Given the description of an element on the screen output the (x, y) to click on. 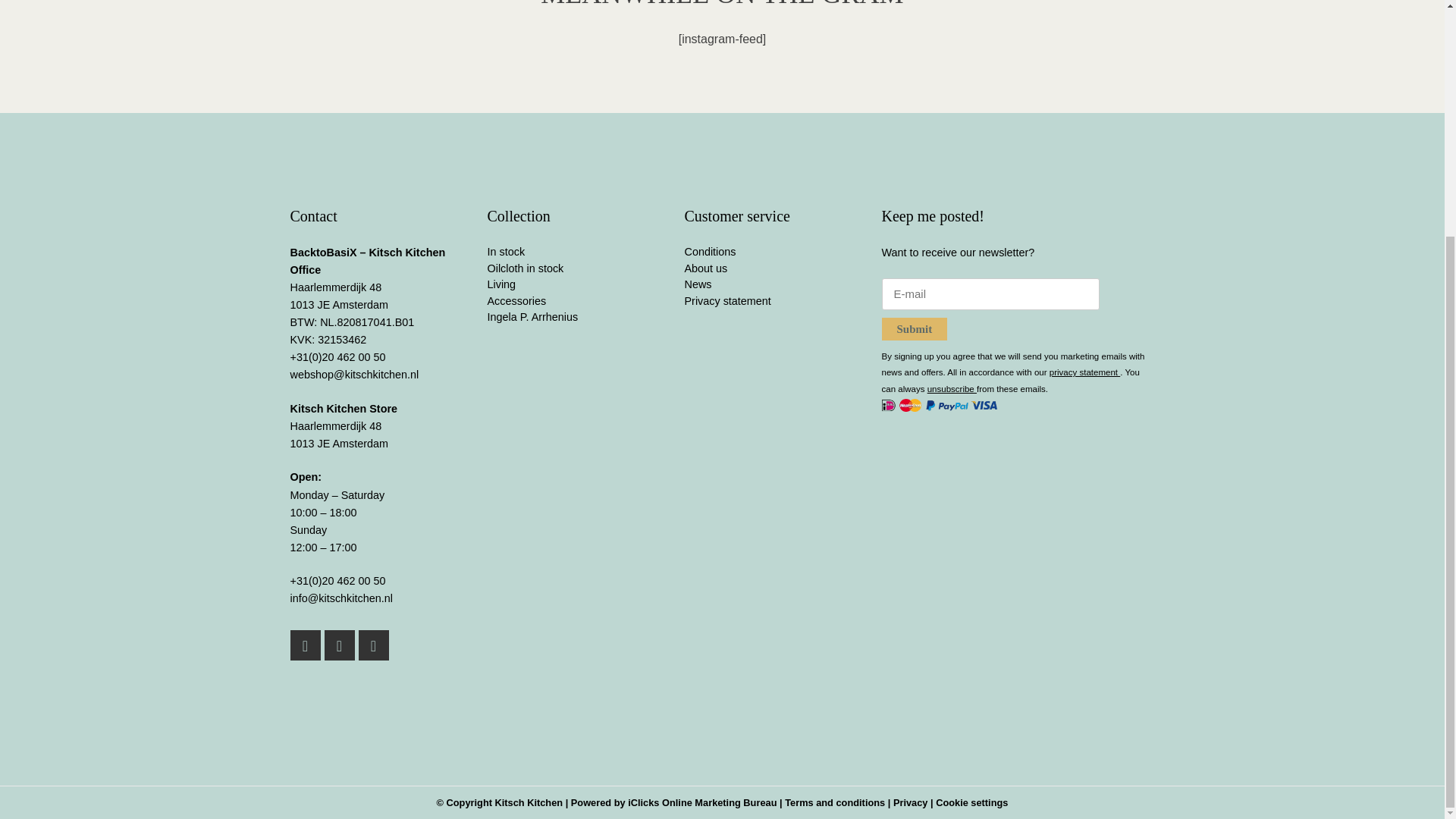
Submit (913, 328)
Oilcloth in stock (524, 268)
In stock (505, 251)
